Given the description of an element on the screen output the (x, y) to click on. 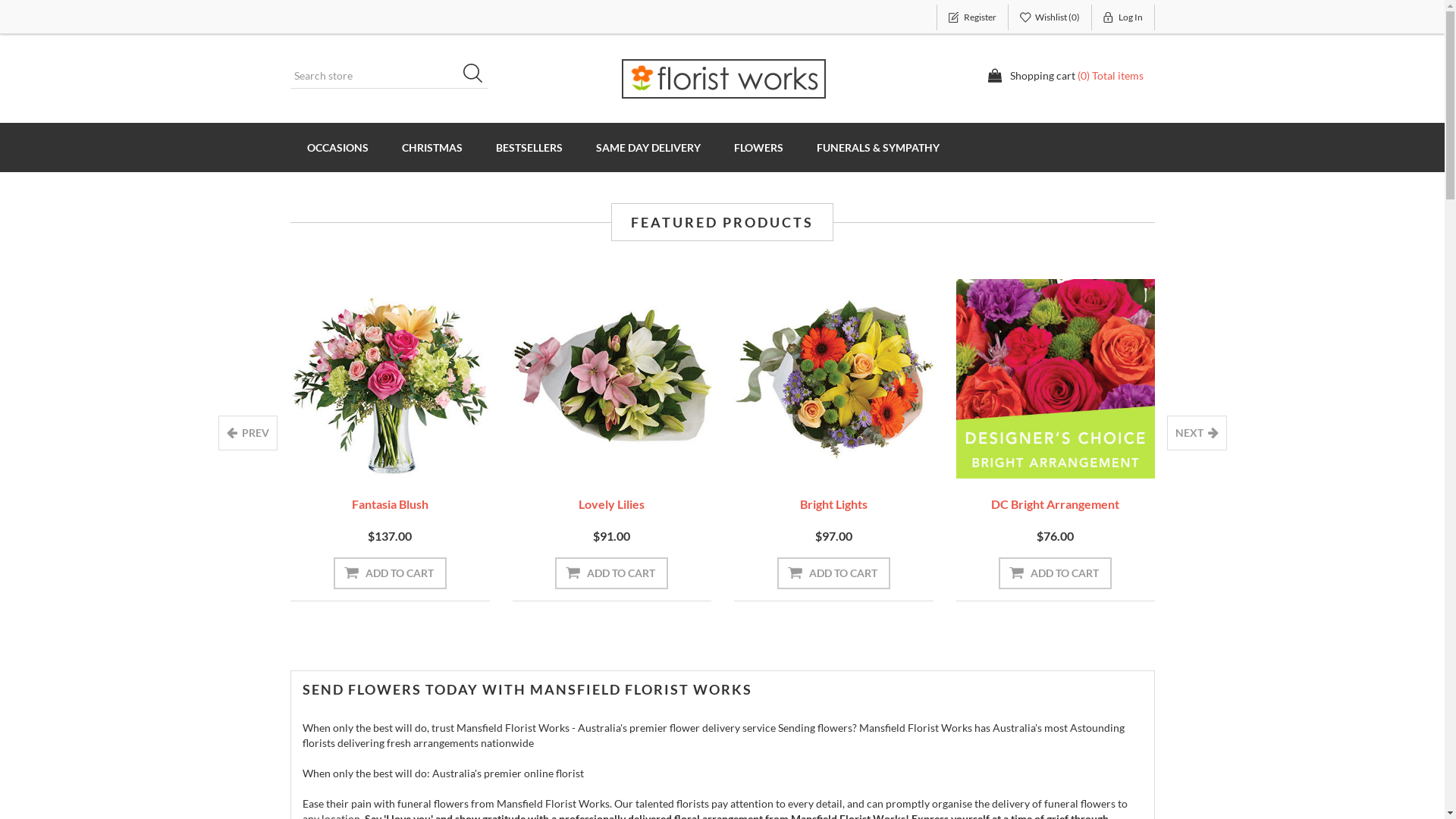
Show details for Bright Lights Element type: hover (833, 378)
Add to cart Element type: text (389, 572)
Add to cart Element type: text (1054, 572)
DC Bright Arrangement Element type: text (1055, 502)
FLOWERS Element type: text (758, 147)
Add to Wishlist Element type: text (1253, 457)
Add to cart Element type: text (1276, 572)
Add to Wishlist Element type: text (1031, 457)
CHRISTMAS Element type: text (432, 147)
Add to cart Element type: text (167, 572)
FUNERALS & SYMPATHY Element type: text (877, 147)
Shopping cart (0) Total items Element type: text (1065, 75)
Add to Compare List Element type: text (857, 457)
Fantasia Blush Element type: text (389, 502)
Add to cart Element type: text (611, 572)
SAME DAY DELIVERY Element type: text (648, 147)
Add to Wishlist Element type: text (366, 457)
Register Element type: text (971, 17)
Add to Compare List Element type: text (1301, 457)
BESTSELLERS Element type: text (529, 147)
Bright Lights Element type: text (833, 502)
Lovely Lilies Element type: text (611, 502)
Add to Compare List Element type: text (191, 457)
Add to cart Element type: text (833, 572)
Add to Compare List Element type: text (1079, 457)
OCCASIONS Element type: text (336, 147)
Add to Wishlist Element type: text (587, 457)
Add to Compare List Element type: text (414, 457)
Add to Wishlist Element type: text (144, 457)
Show details for DC Bright arrangement Element type: hover (1054, 378)
Add to Wishlist Element type: text (809, 457)
PREV Element type: text (247, 432)
Add to Compare List Element type: text (635, 457)
Show details for Fantasia Blush Element type: hover (389, 378)
NEXT Element type: text (1196, 432)
Wishlist (0) Element type: text (1050, 17)
Log In Element type: text (1123, 17)
Show details for Lovely Lilies Element type: hover (612, 378)
